Given the description of an element on the screen output the (x, y) to click on. 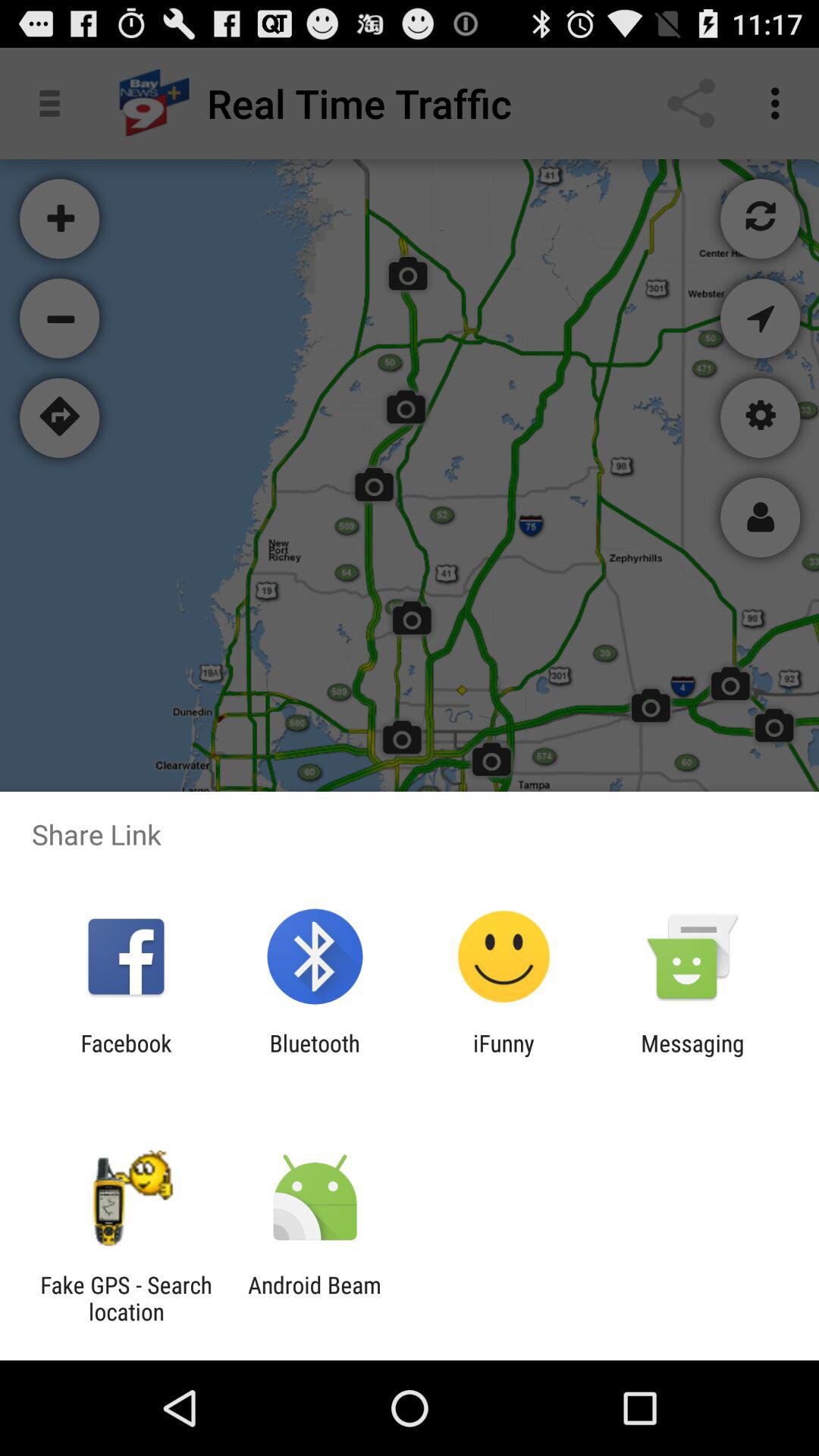
select the app next to the facebook item (314, 1056)
